Given the description of an element on the screen output the (x, y) to click on. 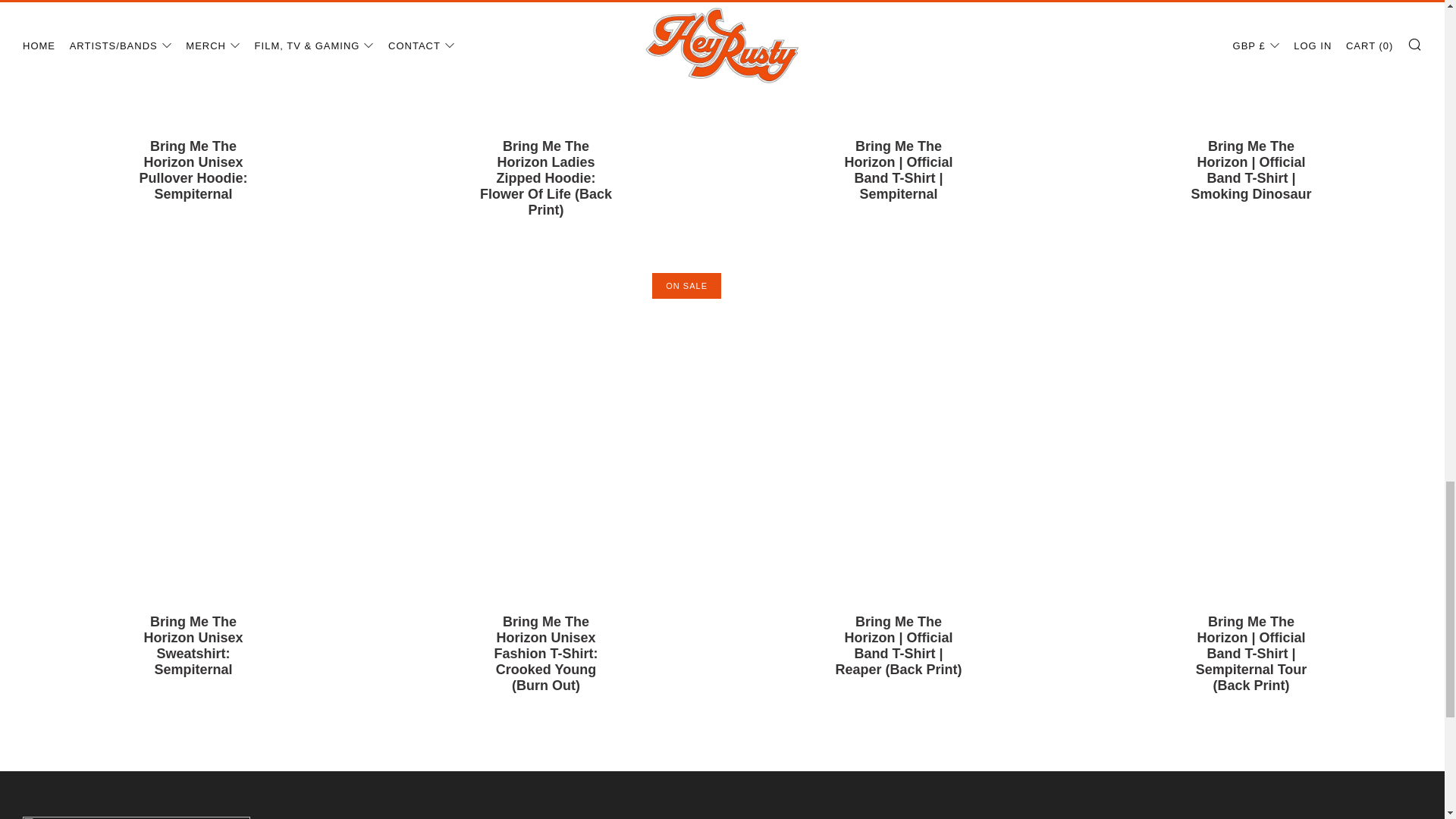
Bring Me The Horizon Unisex Pullover Hoodie: Sempiternal (193, 179)
Bring Me The Horizon Unisex Sweatshirt: Sempiternal (193, 655)
